Given the description of an element on the screen output the (x, y) to click on. 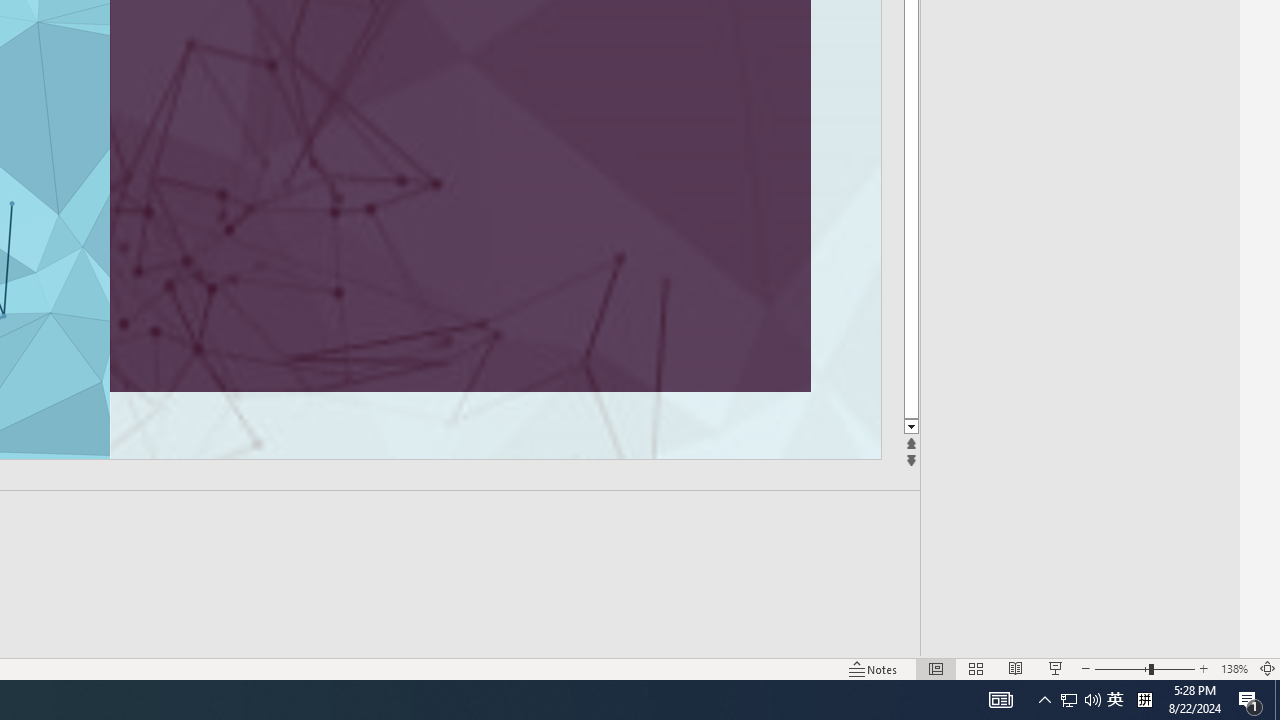
Zoom 138% (1234, 668)
